Given the description of an element on the screen output the (x, y) to click on. 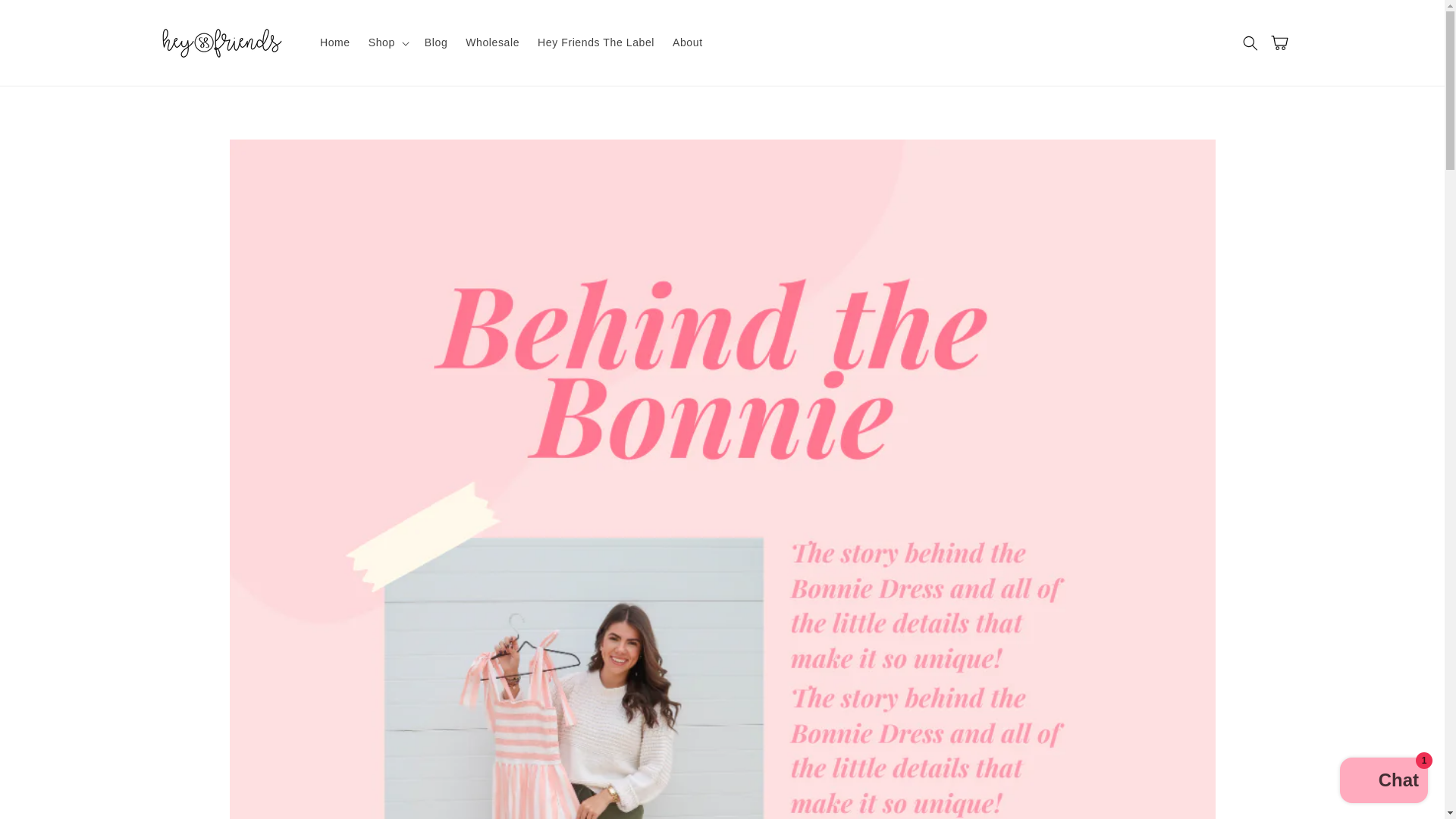
About (687, 42)
Blog (435, 42)
Wholesale (492, 42)
Shopify online store chat (1383, 781)
Skip to content (45, 16)
Hey Friends The Label (595, 42)
Home (335, 42)
Cart (1283, 41)
